Given the description of an element on the screen output the (x, y) to click on. 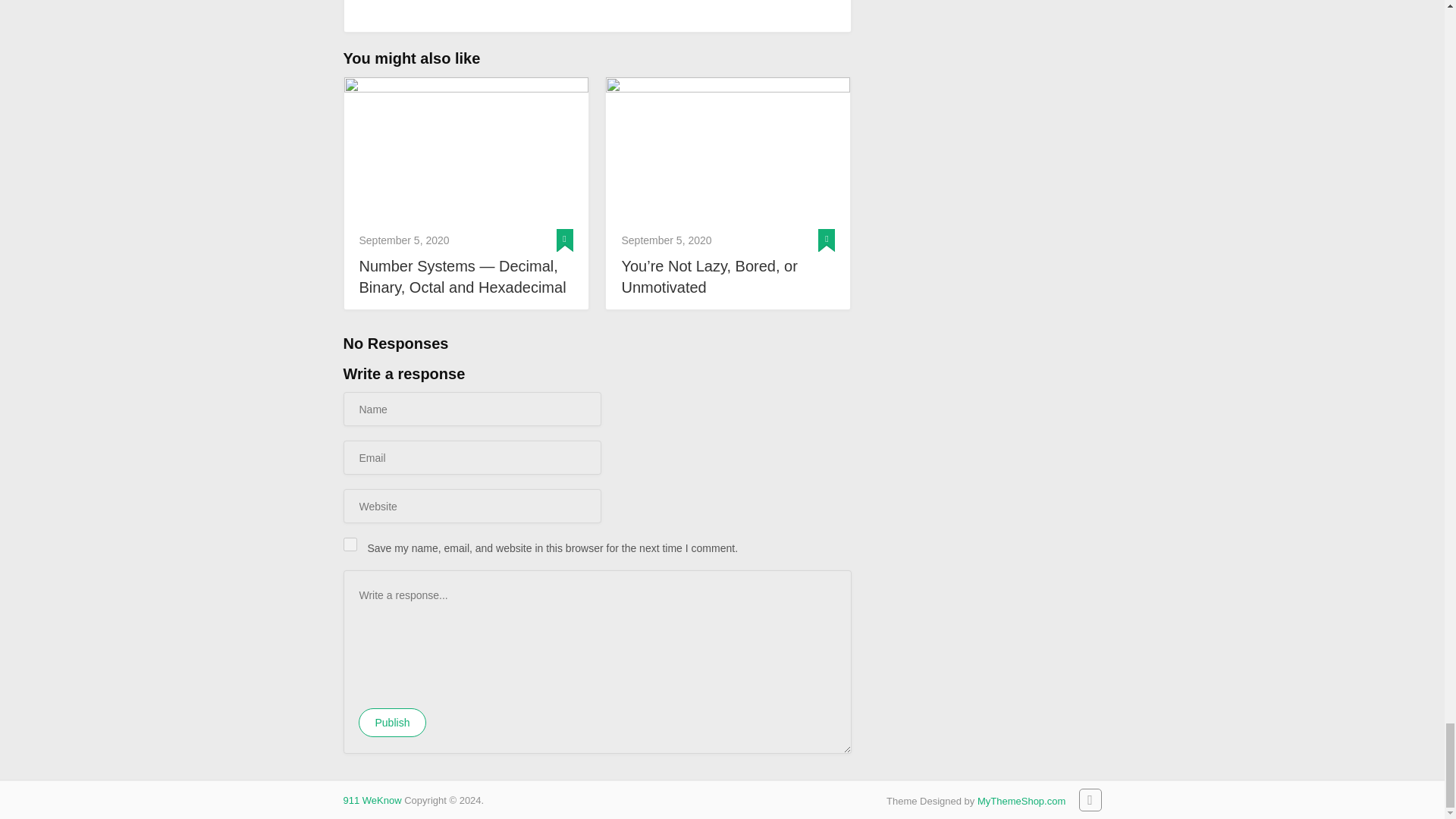
Publish (392, 722)
911 WeKnow (371, 799)
 911weknow.com (371, 799)
Publish (392, 722)
MyThemeShop.com (1020, 800)
yes (349, 544)
